Given the description of an element on the screen output the (x, y) to click on. 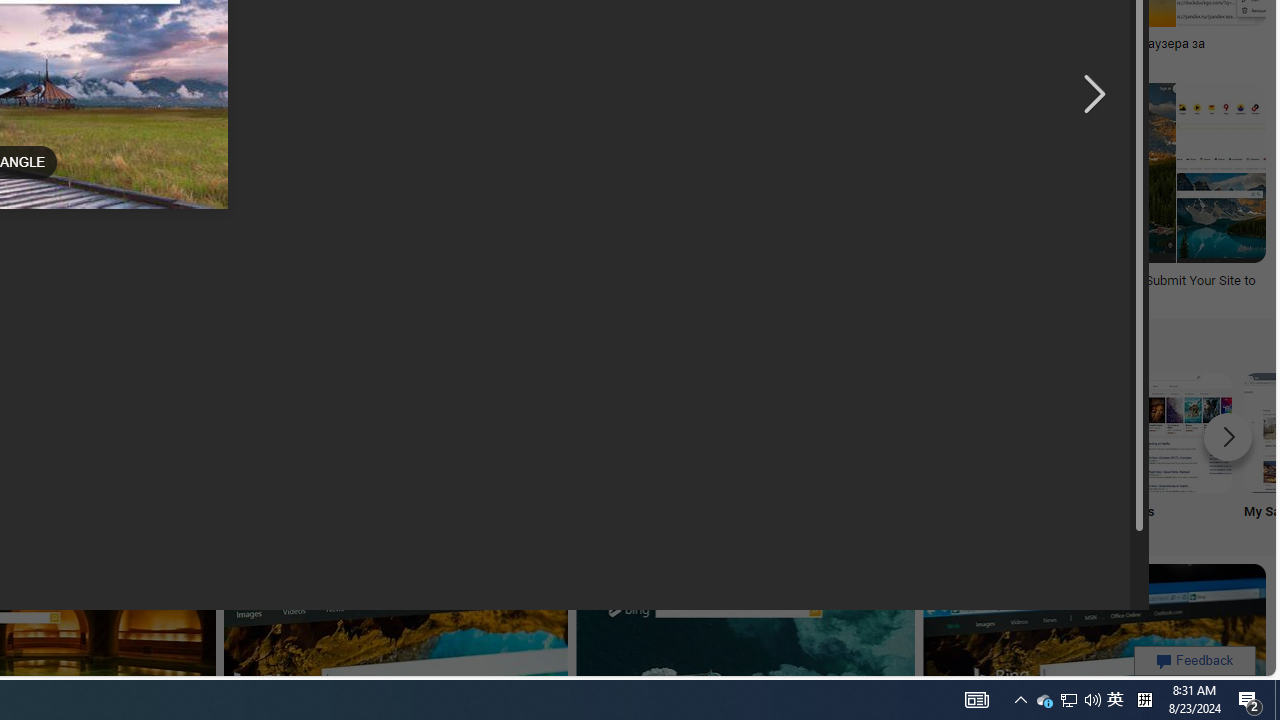
Bing Movies Search (1171, 432)
Movies (1171, 450)
New Bing Image Search (775, 432)
